Given the description of an element on the screen output the (x, y) to click on. 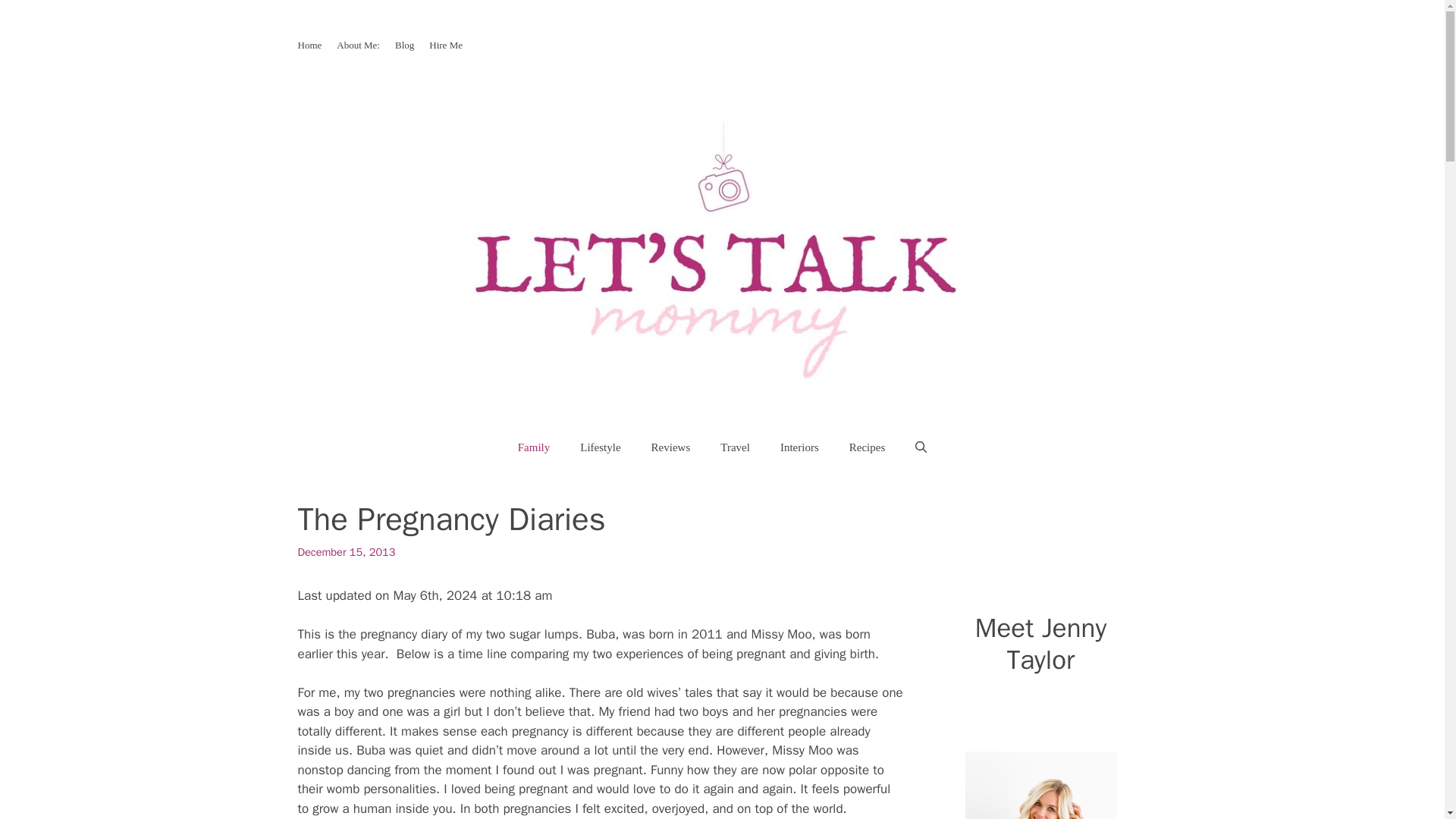
Family (534, 447)
Lily Blanche Butterfly Locket (1039, 785)
Blog (403, 44)
Travel (734, 447)
Hire Me (446, 44)
Lifestyle (599, 447)
About Me: (358, 44)
Recipes (866, 447)
Home (309, 44)
Reviews (671, 447)
Interiors (799, 447)
